Given the description of an element on the screen output the (x, y) to click on. 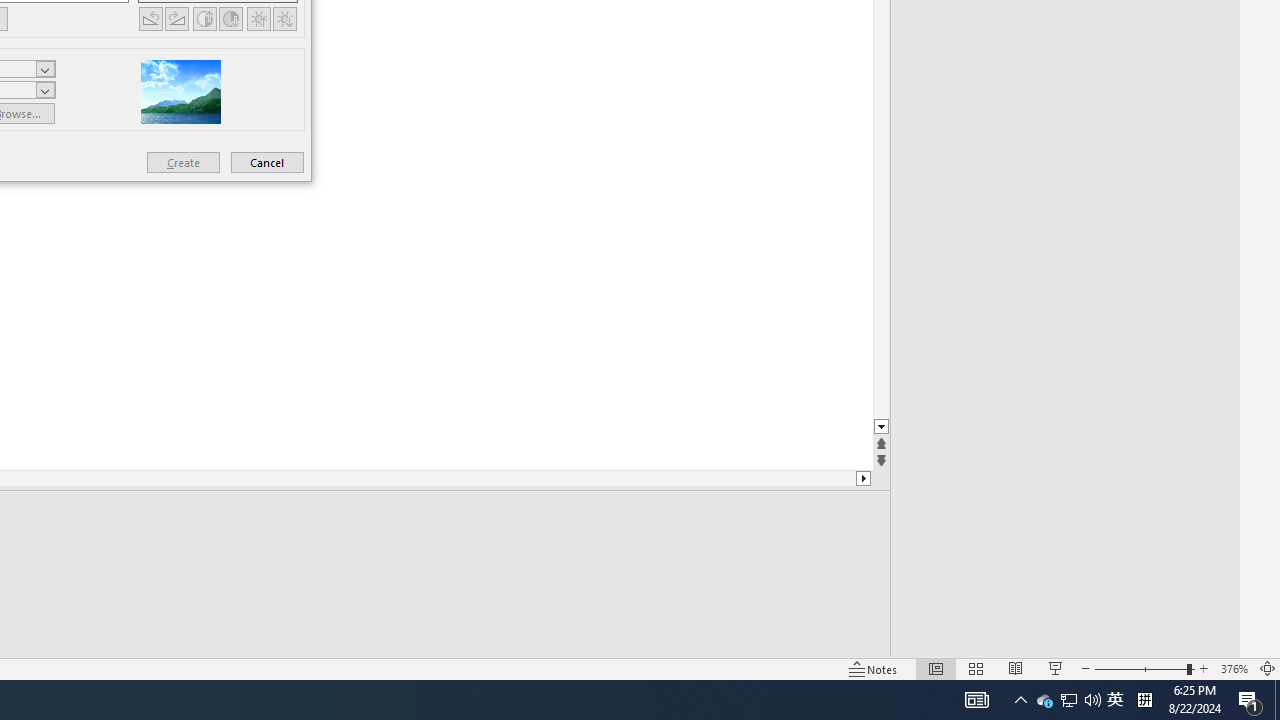
Cancel (267, 162)
Less Brightness (284, 18)
More Contrast (204, 18)
